Given the description of an element on the screen output the (x, y) to click on. 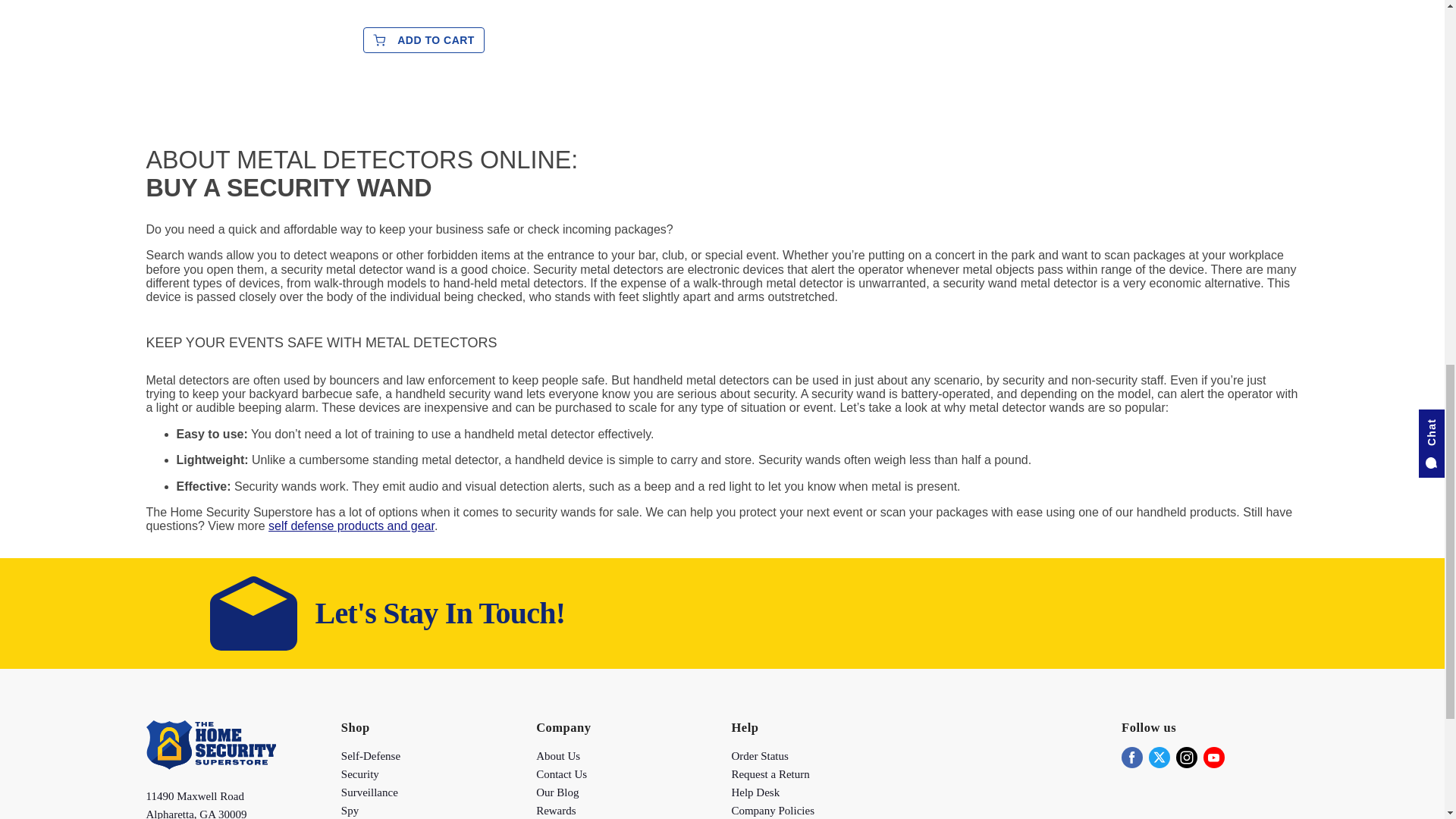
Facebook (1131, 757)
The Home Security Superstore (210, 766)
Instagram (1186, 757)
self defense products and gear (350, 525)
Youtube (1213, 757)
Twitter (1159, 757)
